Given the description of an element on the screen output the (x, y) to click on. 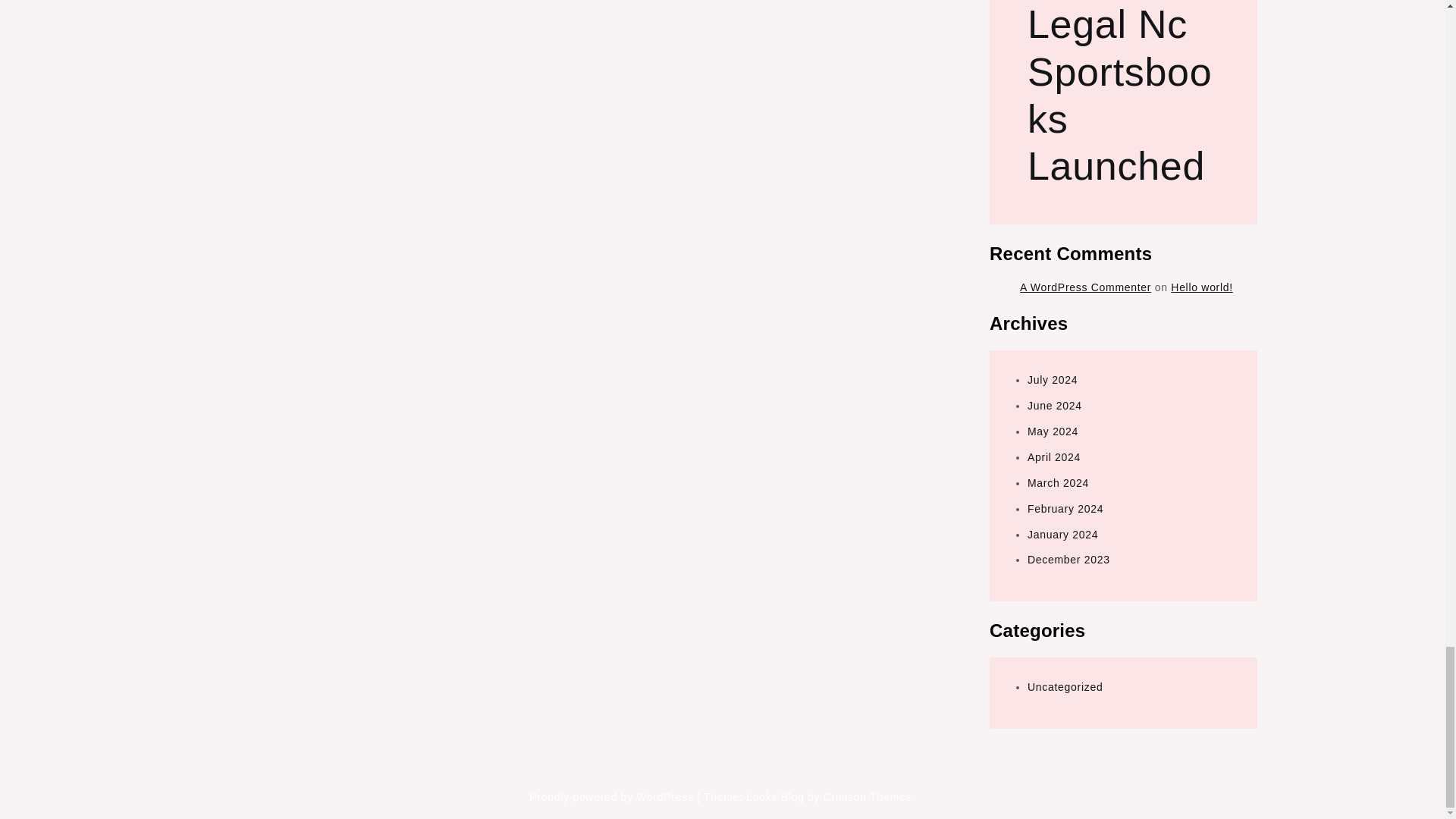
Hello world! (1201, 287)
June 2024 (1054, 405)
April 2024 (1053, 457)
A WordPress Commenter (1085, 287)
July 2024 (1052, 379)
May 2024 (1052, 431)
